Given the description of an element on the screen output the (x, y) to click on. 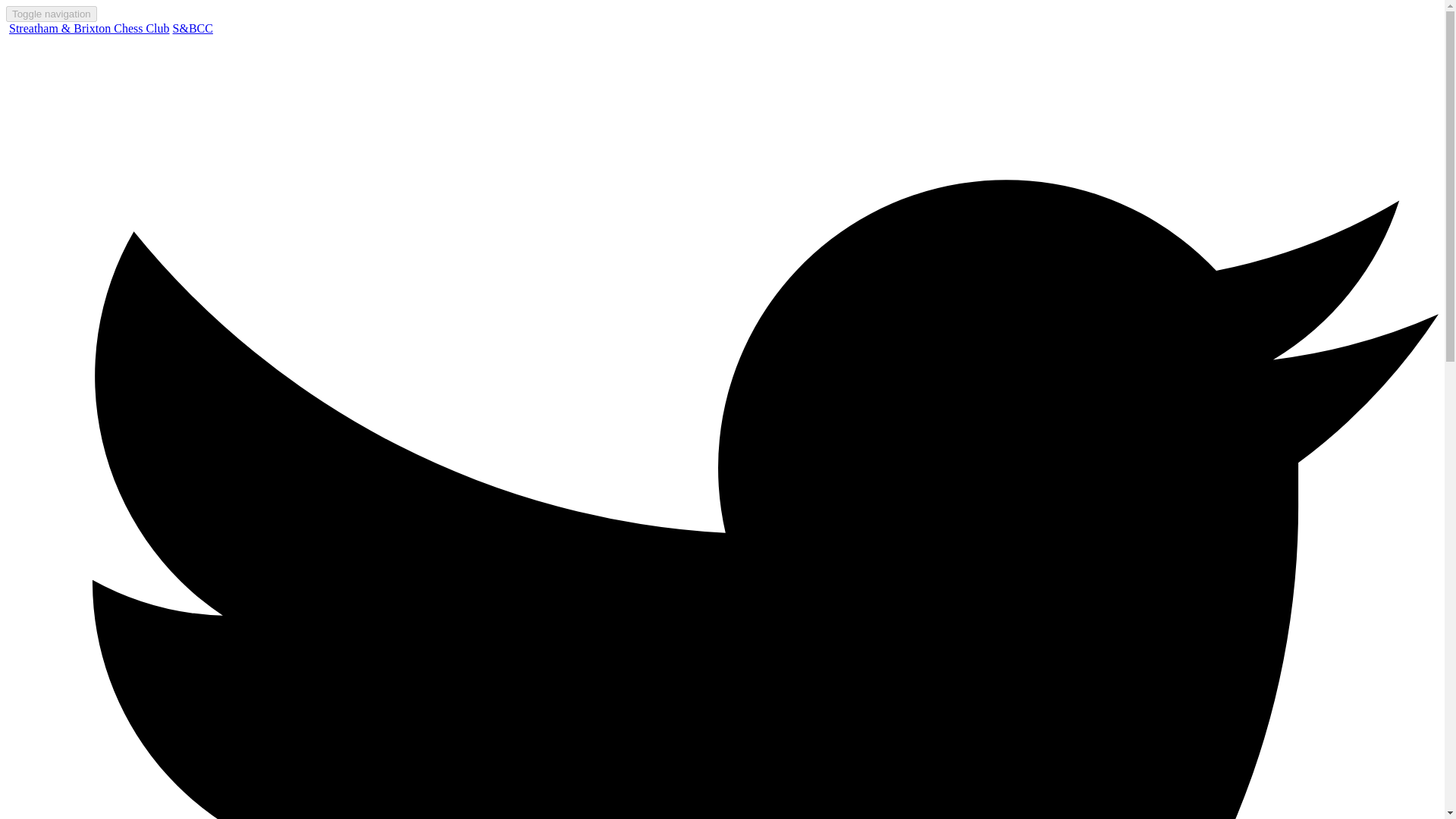
Toggle navigation (51, 13)
